Given the description of an element on the screen output the (x, y) to click on. 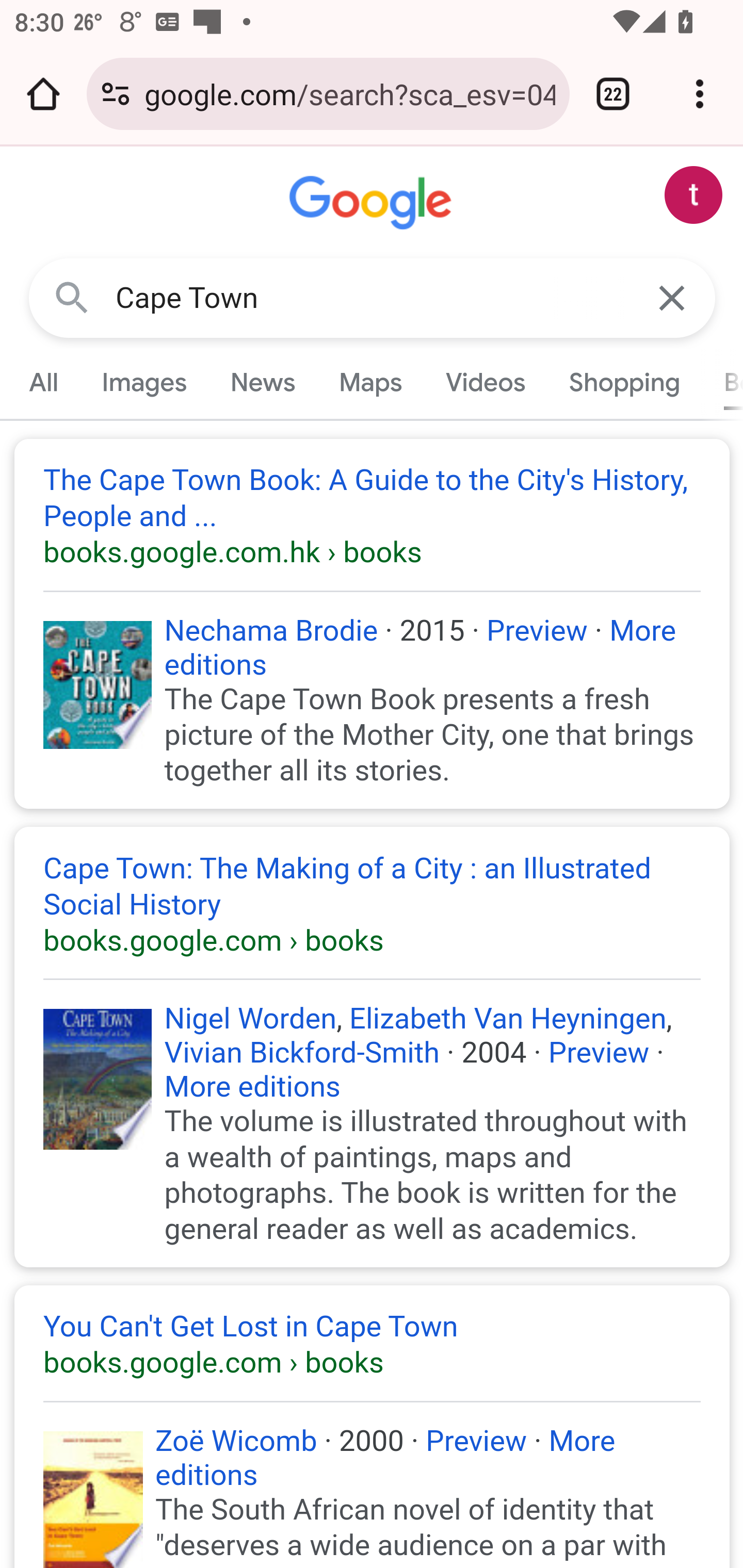
Open the home page (43, 93)
Connection is secure (115, 93)
Switch or close tabs (612, 93)
Customize and control Google Chrome (699, 93)
Google (372, 203)
Google Search (71, 296)
Clear Search (672, 296)
Cape Town (372, 297)
All (43, 382)
Images (144, 382)
News (262, 382)
Maps (369, 382)
Videos (485, 382)
Shopping (623, 382)
Nechama Brodie (270, 629)
More editions (419, 646)
Preview (536, 629)
Nigel Worden (249, 1019)
Elizabeth Van Heyningen (507, 1019)
Vivian Bickford-Smith (301, 1052)
Preview (598, 1052)
More editions (251, 1087)
You Can't Get Lost in Cape Town (372, 1344)
Zoë Wicomb (236, 1440)
More editions (385, 1457)
Preview (475, 1440)
